Given the description of an element on the screen output the (x, y) to click on. 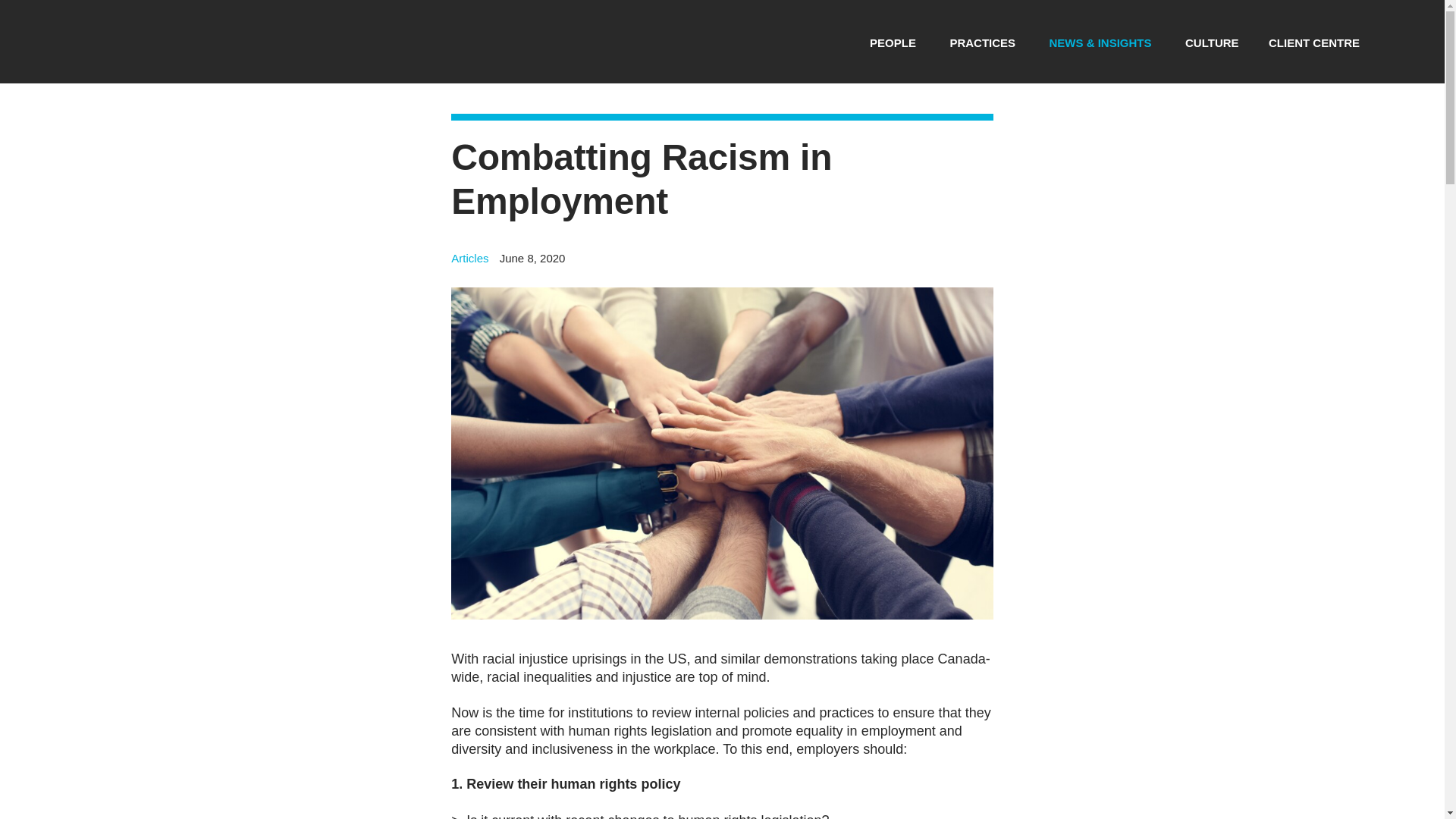
CULTURE (1212, 42)
CLIENT CENTRE (1313, 42)
LinkedIn Share (983, 264)
Facebook share (961, 264)
PEOPLE (892, 42)
PRACTICES (981, 42)
Twitter share (939, 264)
Articles (469, 257)
